Given the description of an element on the screen output the (x, y) to click on. 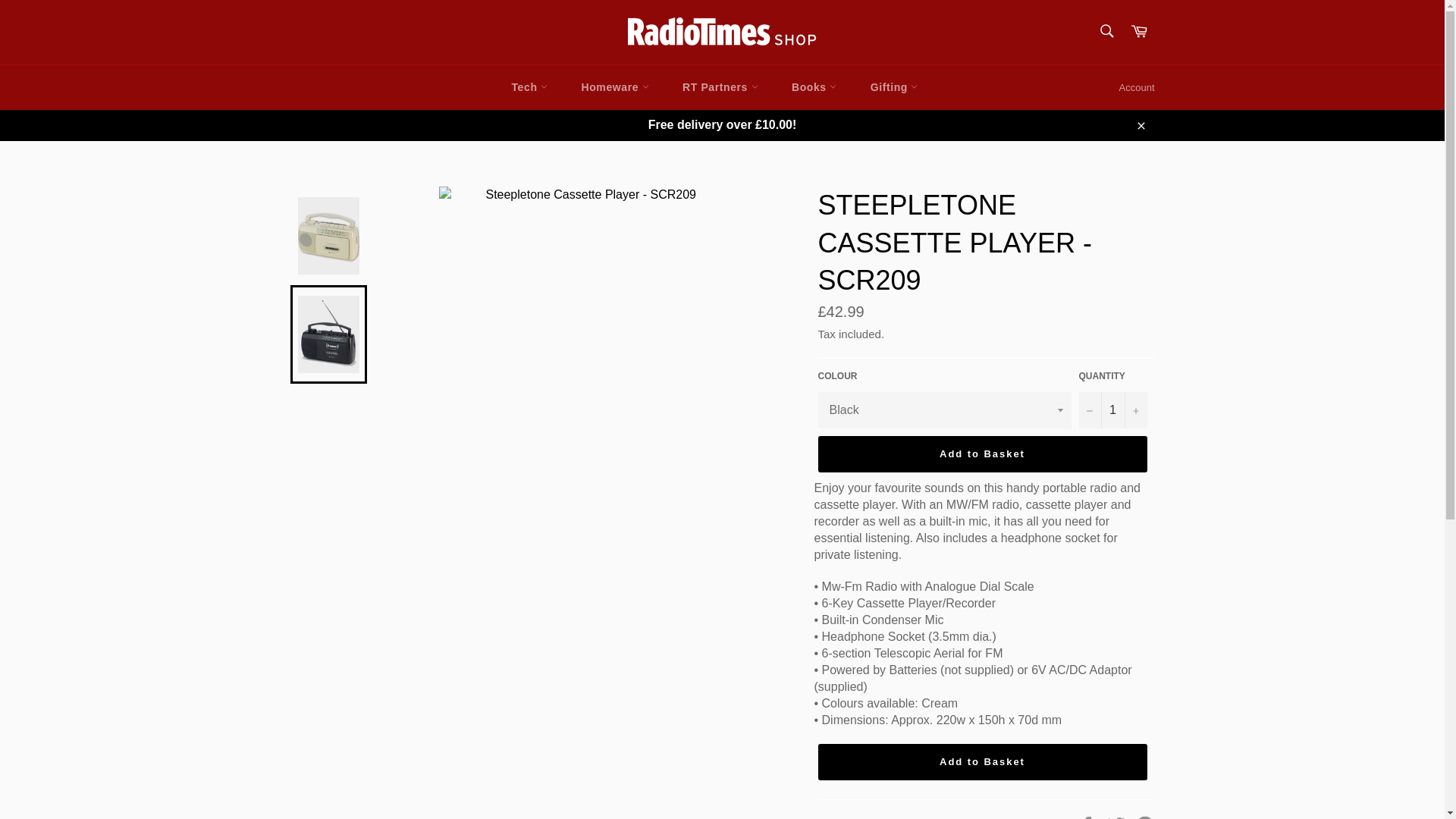
Tweet on Twitter (1117, 818)
1 (1112, 410)
Share on Facebook (1088, 818)
